Given the description of an element on the screen output the (x, y) to click on. 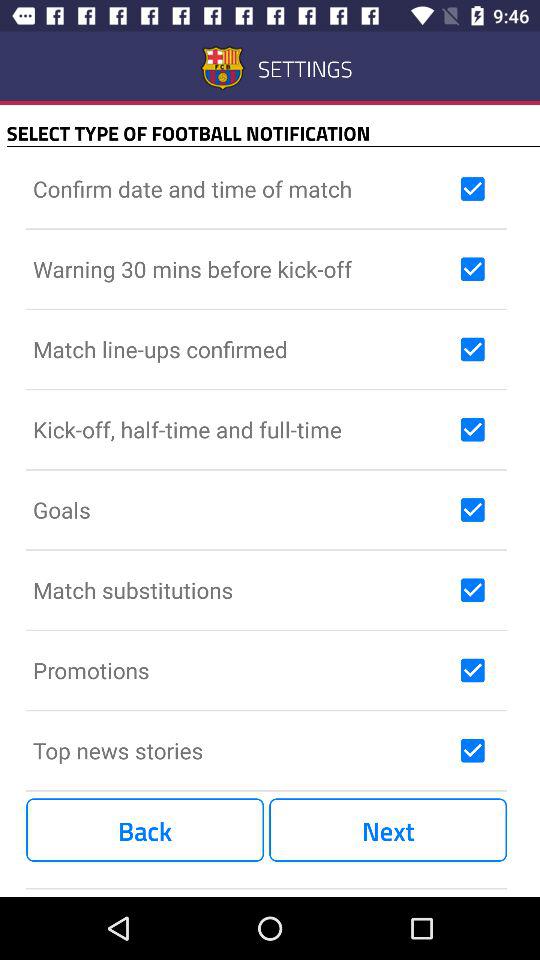
toggle notification (472, 429)
